Given the description of an element on the screen output the (x, y) to click on. 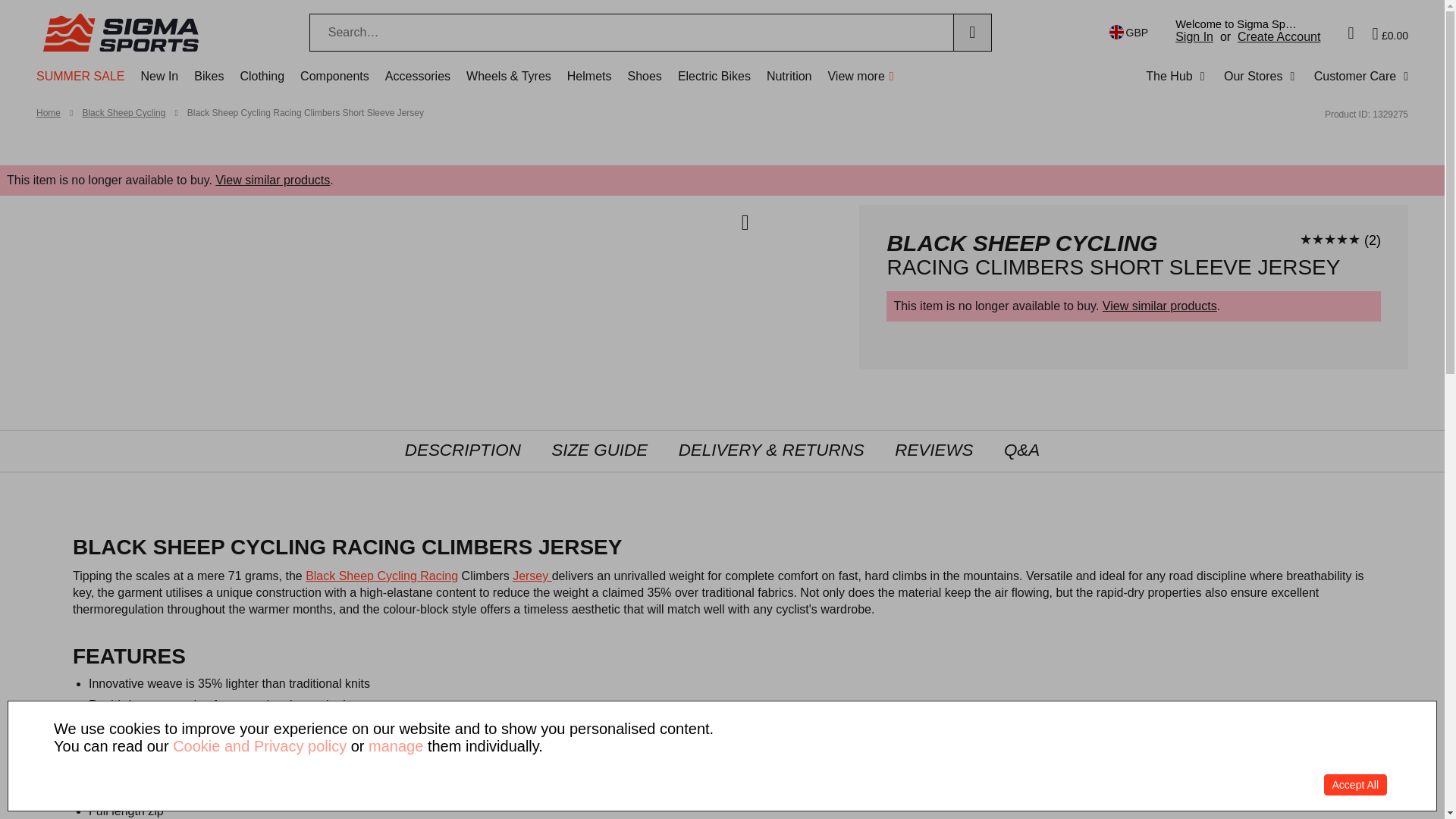
Search Sigma Sports (630, 32)
REVIEWS (933, 450)
SIZE GUIDE (599, 450)
DESCRIPTION (462, 450)
Search (972, 32)
